Given the description of an element on the screen output the (x, y) to click on. 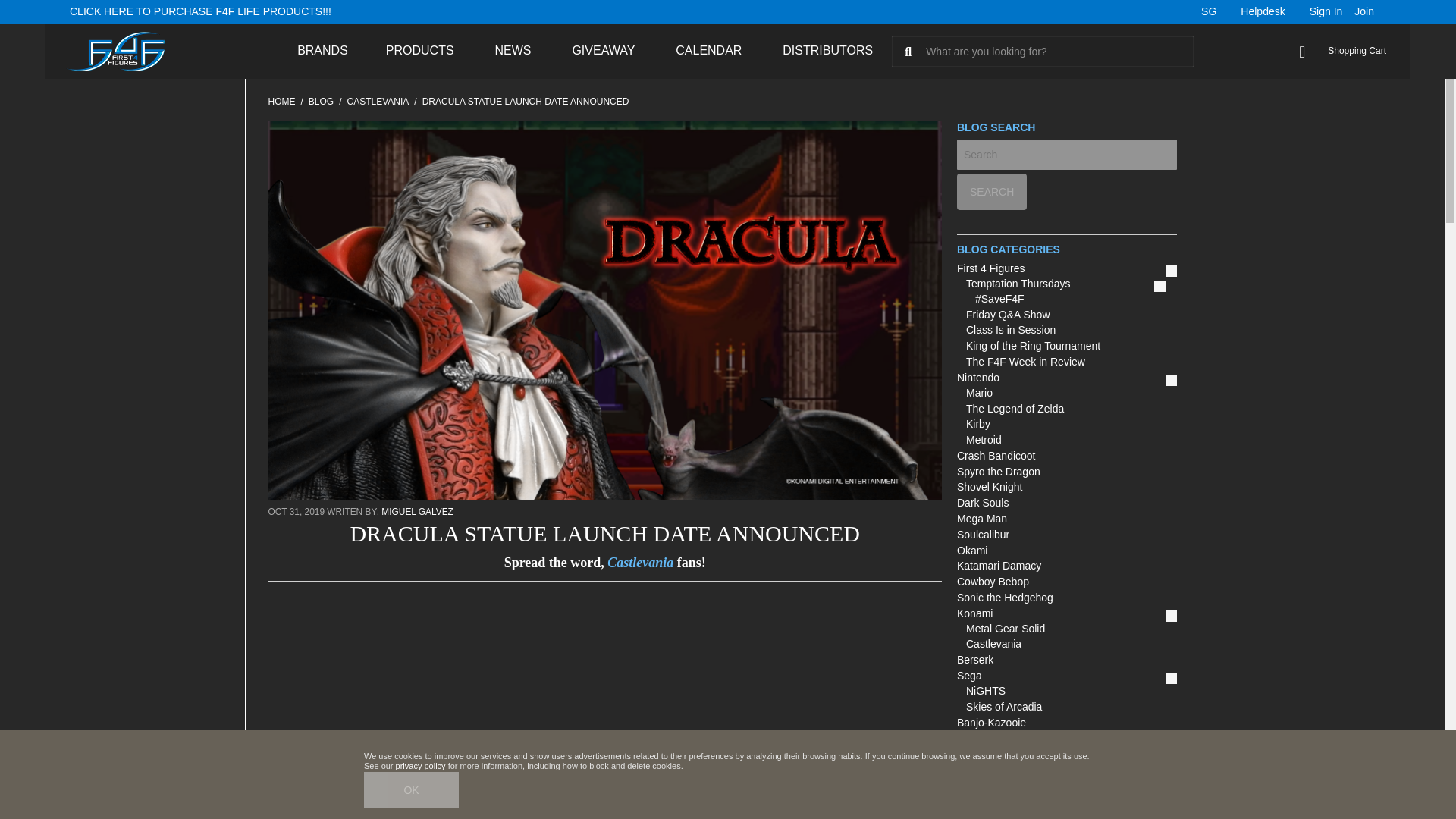
Helpdesk (1262, 11)
Castlevania (378, 101)
Dracula Statue Launch Date Announced (604, 495)
Sign In (1323, 11)
Join (1364, 11)
Go to Home Page (281, 101)
 SG (1200, 11)
Miguel Galvez (415, 511)
Dracula Statue Launch Date Announced (525, 101)
